Given the description of an element on the screen output the (x, y) to click on. 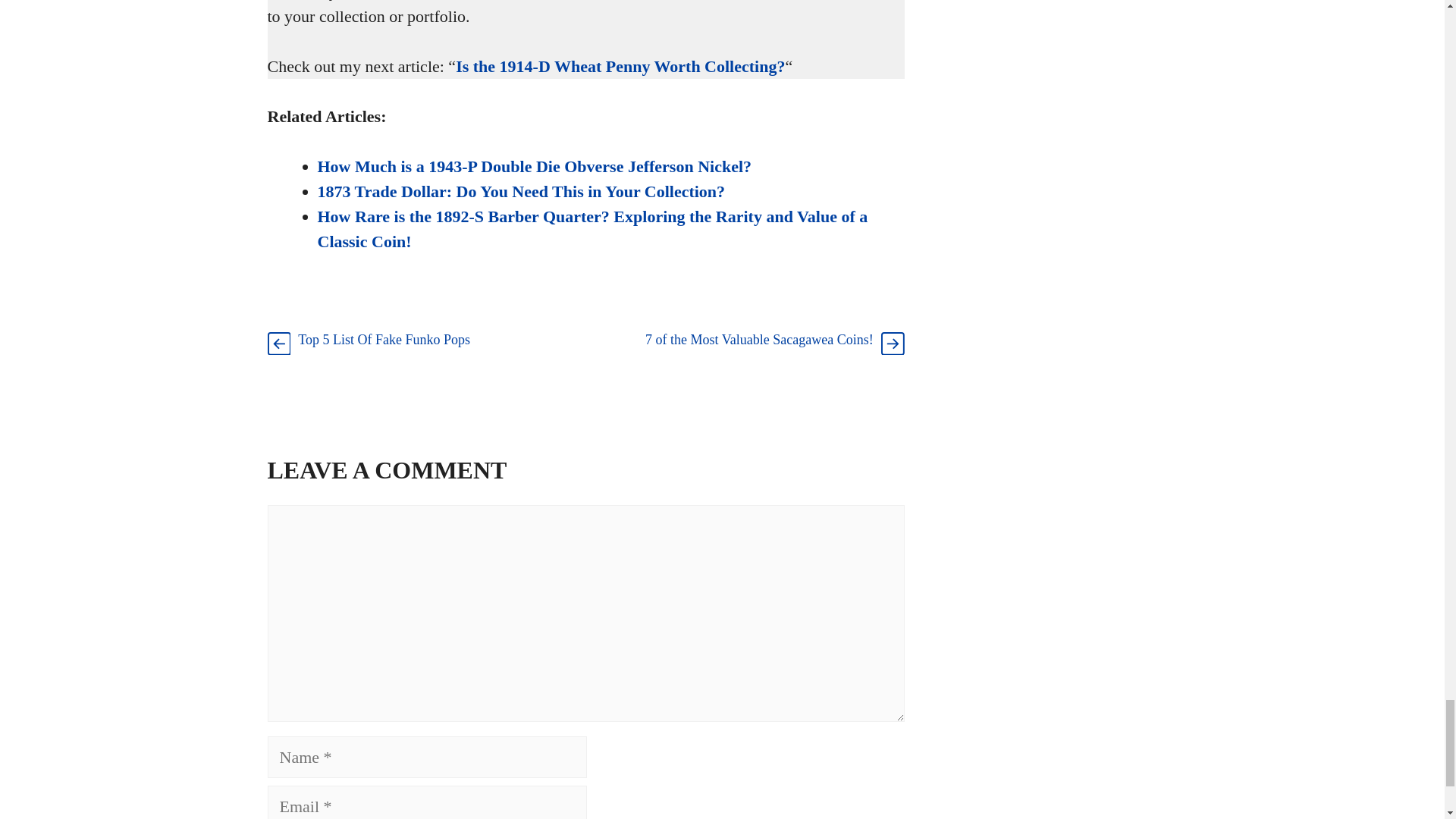
Is the 1914-D Wheat Penny Worth Collecting? (619, 66)
1873 Trade Dollar: Do You Need This in Your Collection? (521, 190)
7 of the Most Valuable Sacagawea Coins! (759, 339)
Top 5 List Of Fake Funko Pops (384, 339)
How Much is a 1943-P Double Die Obverse Jefferson Nickel? (534, 166)
